Given the description of an element on the screen output the (x, y) to click on. 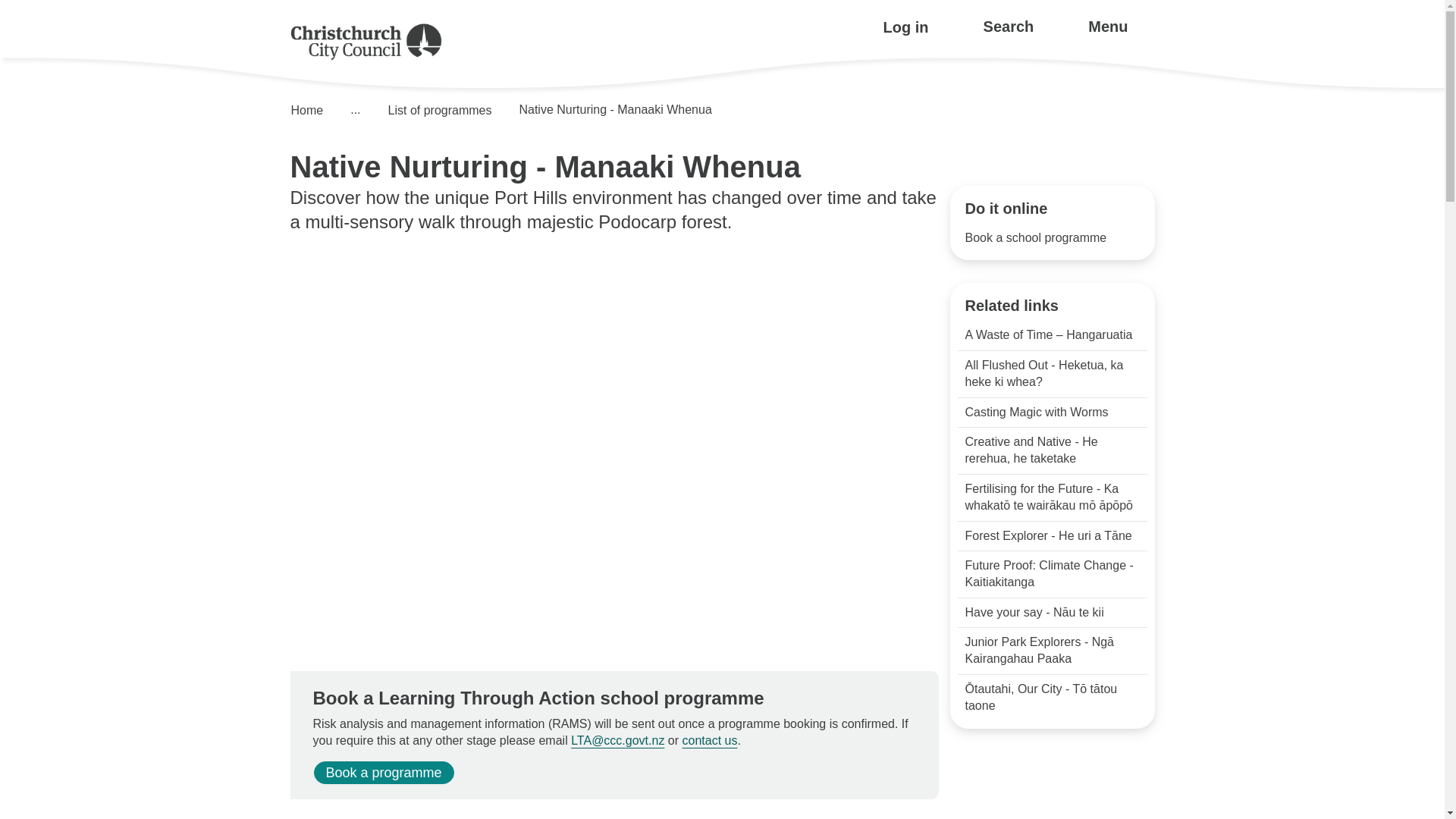
Book a programme (384, 772)
Creative and Native - He rerehua, he taketake (1051, 450)
Log in (905, 27)
List of programmes (435, 111)
Search (1005, 27)
Future Proof: Climate Change - Kaitiakitanga (1051, 574)
Casting Magic with Worms (1051, 412)
contact us (710, 739)
Menu (1104, 27)
All Flushed Out - Heketua, ka heke ki whea? (1051, 374)
